Given the description of an element on the screen output the (x, y) to click on. 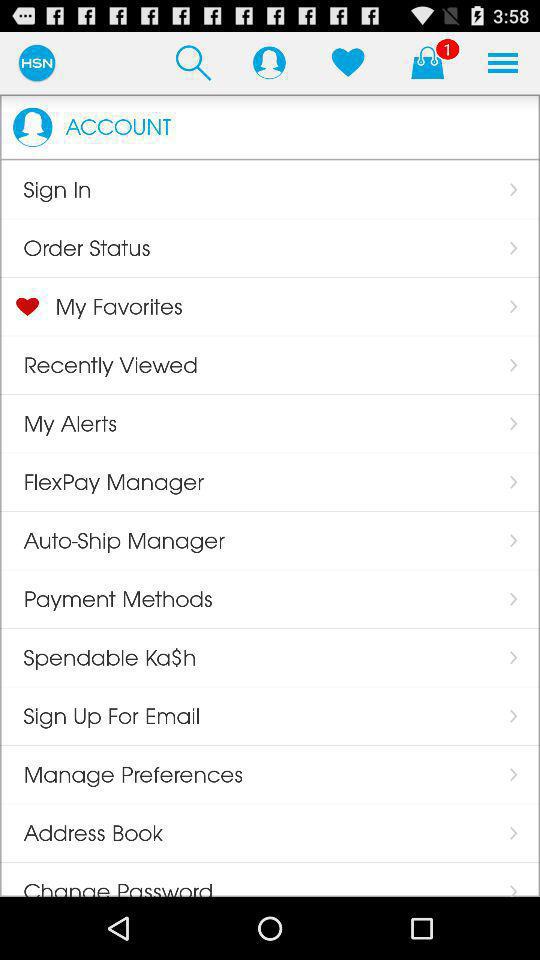
click the icon above the account (193, 62)
